Given the description of an element on the screen output the (x, y) to click on. 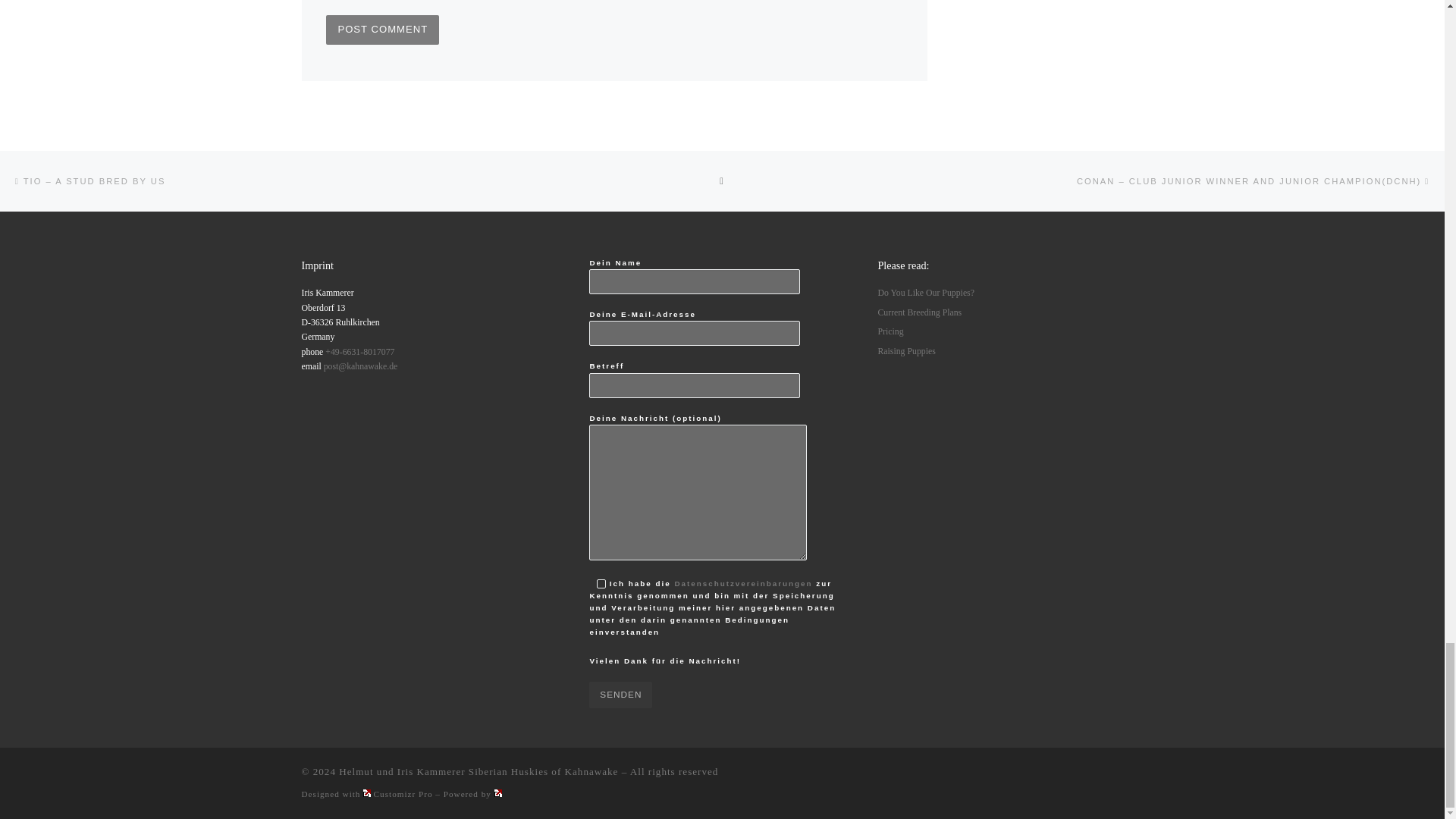
1 (600, 583)
Post Comment (382, 30)
Senden (620, 694)
